Given the description of an element on the screen output the (x, y) to click on. 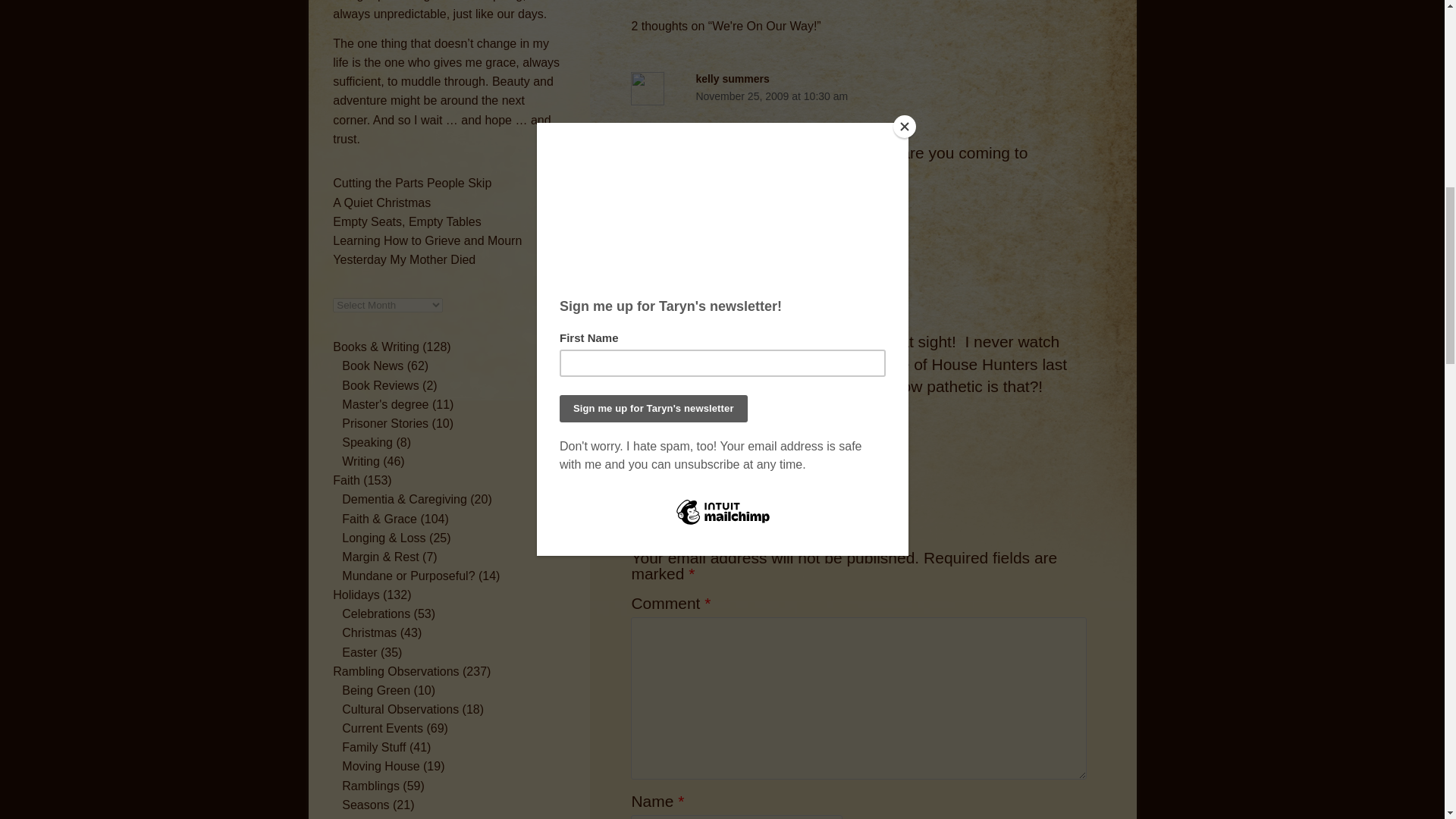
Reply (644, 214)
Learning How to Grieve and Mourn (427, 240)
Faith (346, 480)
December 1, 2009 at 11:29 am (858, 285)
Empty Seats, Empty Tables (406, 221)
A Quiet Christmas (381, 202)
Writing (361, 461)
November 25, 2009 at 10:30 am (858, 95)
Master's degree (385, 404)
Prisoner Stories (385, 422)
Speaking (367, 441)
Book Reviews (380, 385)
Reply (644, 448)
Cutting the Parts People Skip (412, 182)
Mundane or Purposeful? (408, 575)
